Given the description of an element on the screen output the (x, y) to click on. 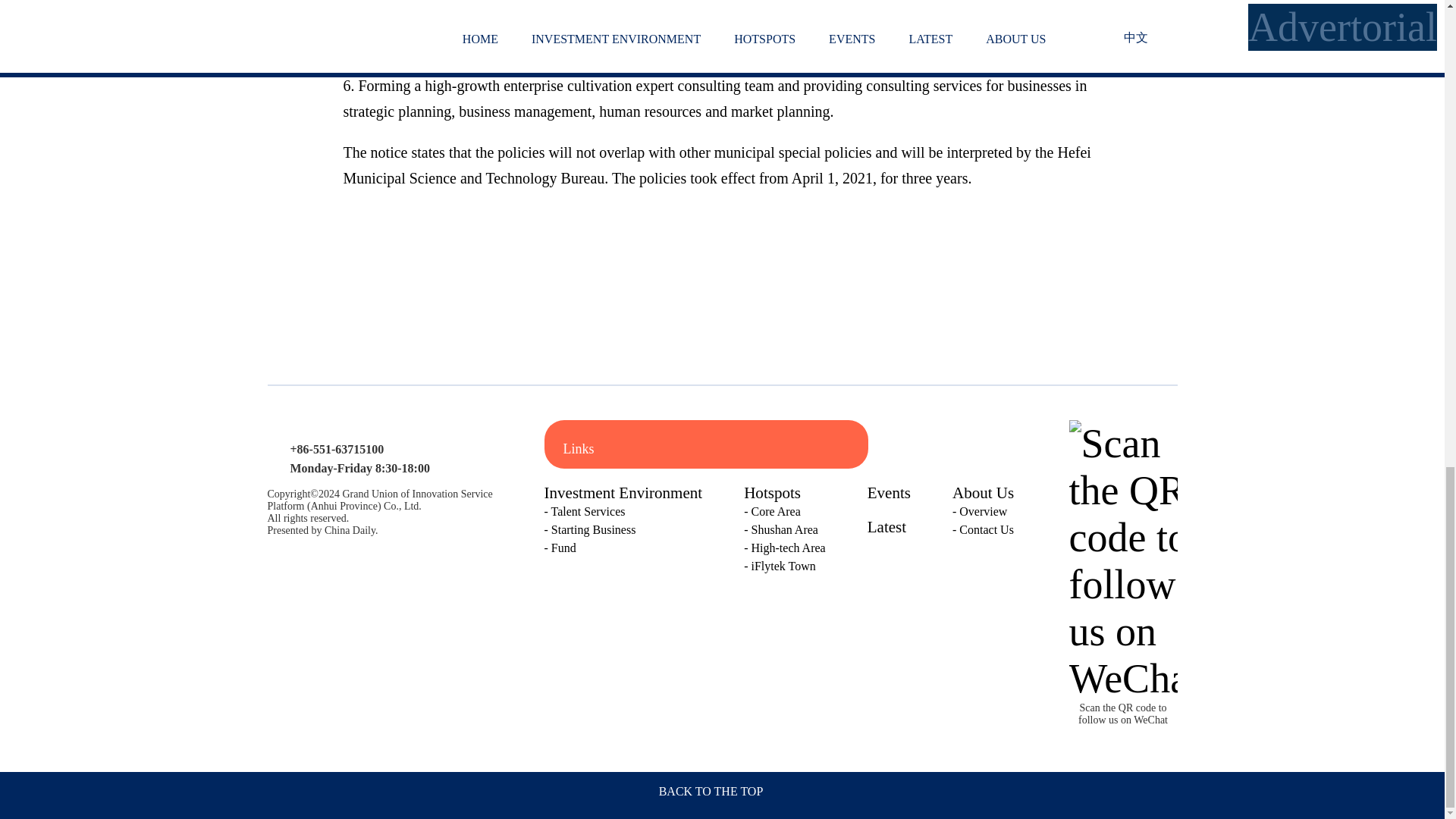
Investment Environment (623, 493)
- Fund (623, 547)
- Talent Services (623, 511)
- Starting Business (623, 529)
Hotspots (772, 493)
